Given the description of an element on the screen output the (x, y) to click on. 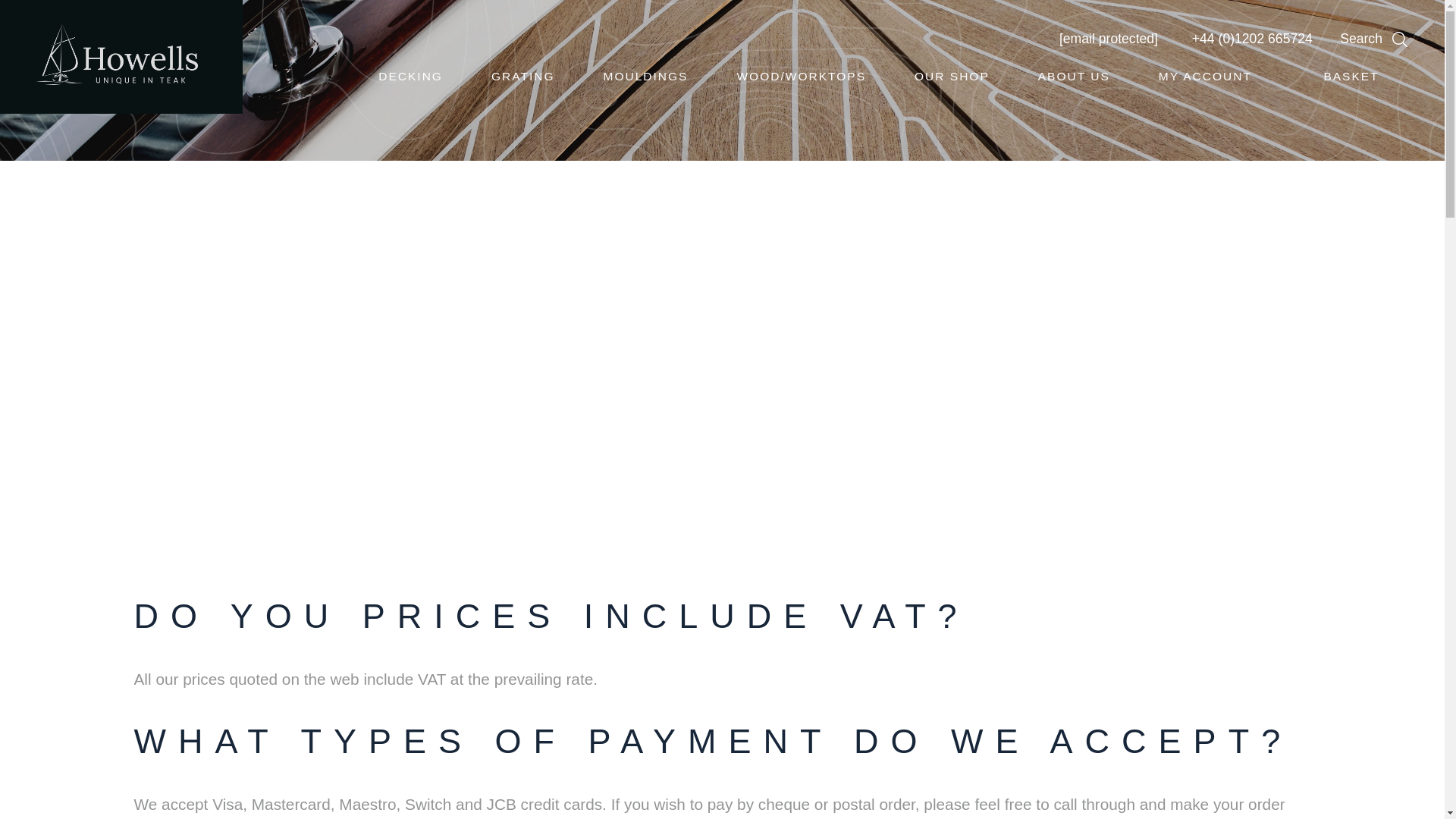
Search (1380, 38)
Our Shop (951, 76)
View your shopping basket (1362, 76)
Decking (410, 76)
OUR SHOP (951, 76)
DECKING (410, 76)
MOULDINGS (646, 76)
My Account  (1217, 76)
ABOUT US (1073, 76)
GRATING (523, 76)
